Given the description of an element on the screen output the (x, y) to click on. 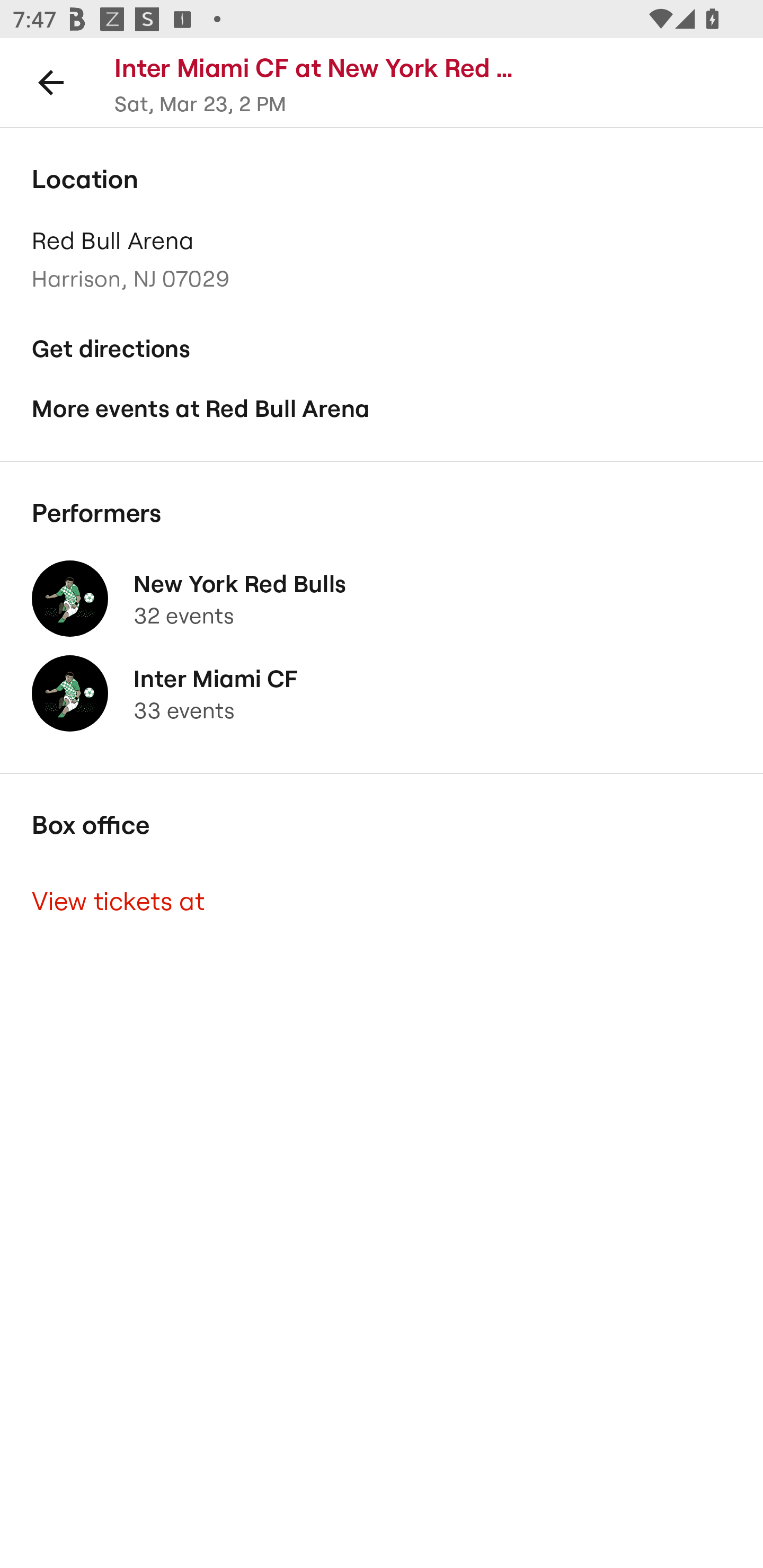
Back (50, 81)
Get directions (381, 348)
More events at Red Bull Arena (381, 409)
New York Red Bulls 32 events (381, 598)
Inter Miami CF 33 events (381, 693)
View tickets at  (381, 901)
